Given the description of an element on the screen output the (x, y) to click on. 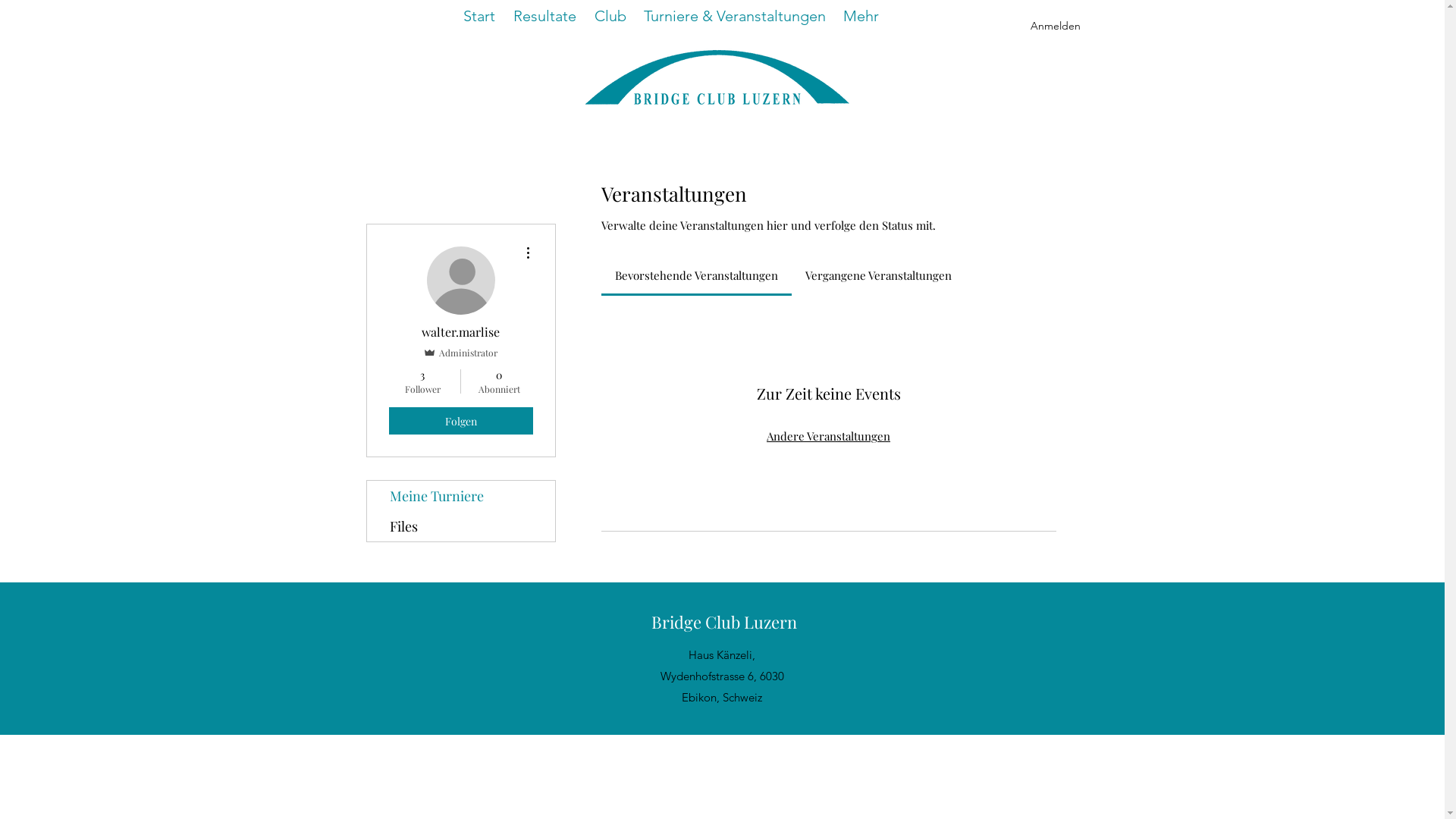
Bridge Club Luzern Element type: text (724, 621)
Folgen Element type: text (460, 420)
Andere Veranstaltungen Element type: text (828, 436)
Turniere & Veranstaltungen Element type: text (734, 15)
Resultate Element type: text (543, 15)
Anmelden Element type: text (1054, 26)
0
Abonniert Element type: text (499, 381)
Club Element type: text (610, 15)
Start Element type: text (478, 15)
Meine Turniere Element type: text (461, 495)
Files Element type: text (461, 526)
3
Follower Element type: text (421, 381)
